Given the description of an element on the screen output the (x, y) to click on. 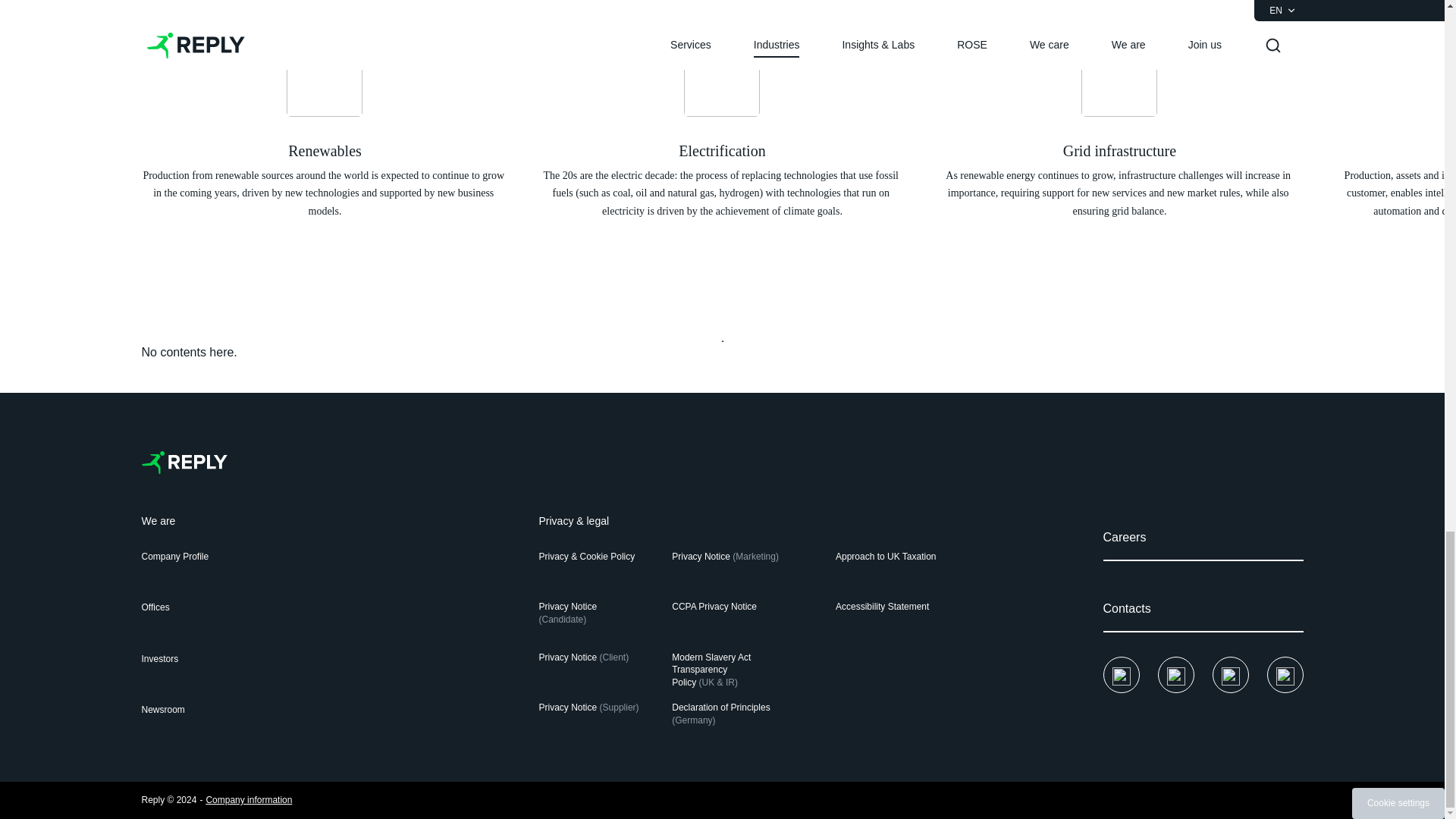
Xing (1284, 674)
Facebook (1120, 674)
LinkedIn (1229, 674)
Reply (184, 462)
Reply Logo (184, 462)
Twitter (1175, 674)
